Given the description of an element on the screen output the (x, y) to click on. 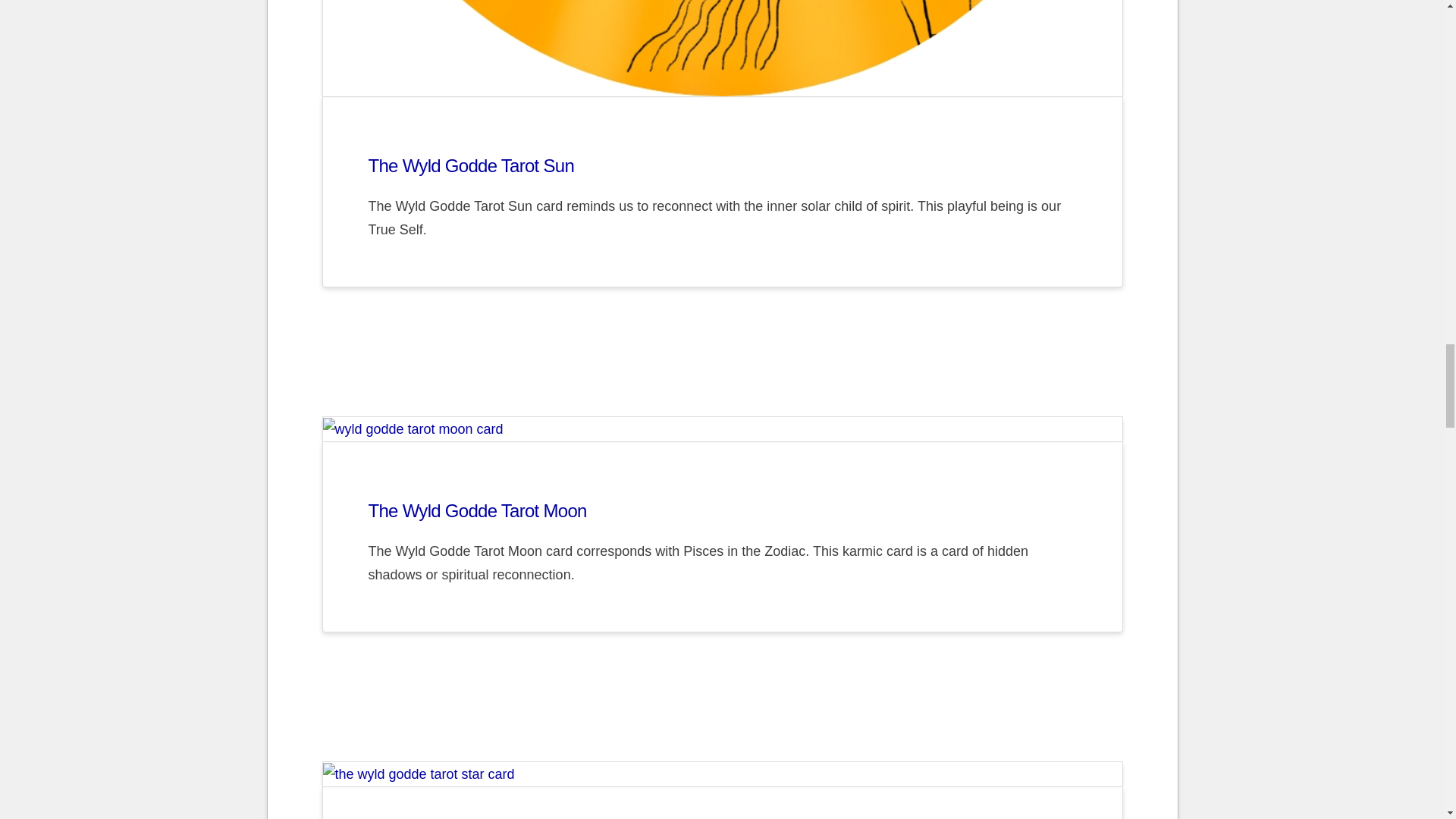
Permalink to: "The Wyld Godde Tarot Moon" (722, 428)
Permalink to: "The Wyld Godde Tarot Moon" (477, 510)
Permalink to: "The Wyld Godde Tarot Sun" (471, 165)
Permalink to: "The Wyld Godde Tarot Star" (722, 774)
Permalink to: "The Wyld Godde Tarot Sun" (722, 48)
